Given the description of an element on the screen output the (x, y) to click on. 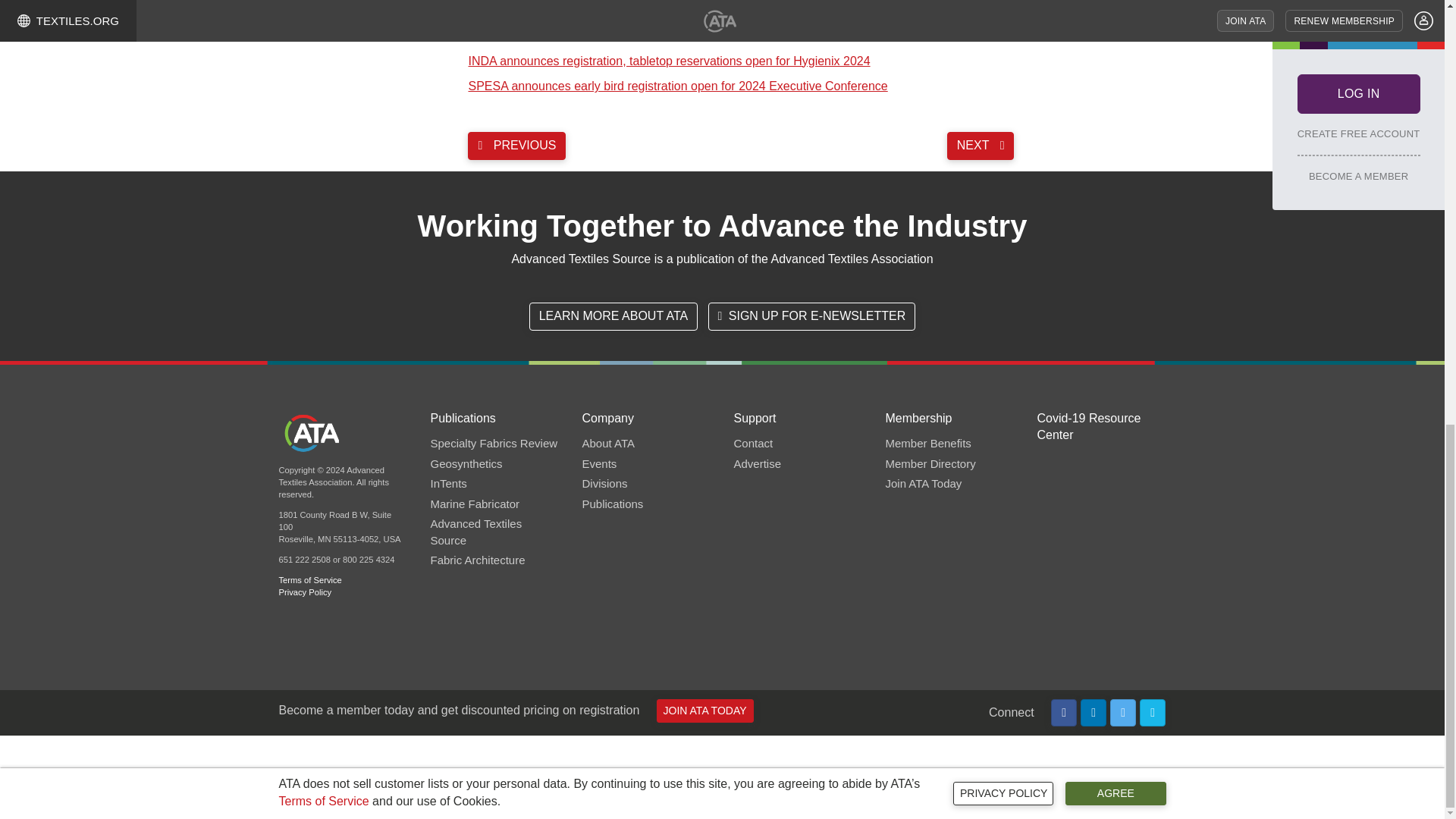
Follow us on Twitter (1123, 713)
Watch us on Vimeo (1153, 713)
Follow us on LinkedIn (1093, 713)
3rd party ad content (721, 776)
Follow us on Facebook (1064, 713)
